Given the description of an element on the screen output the (x, y) to click on. 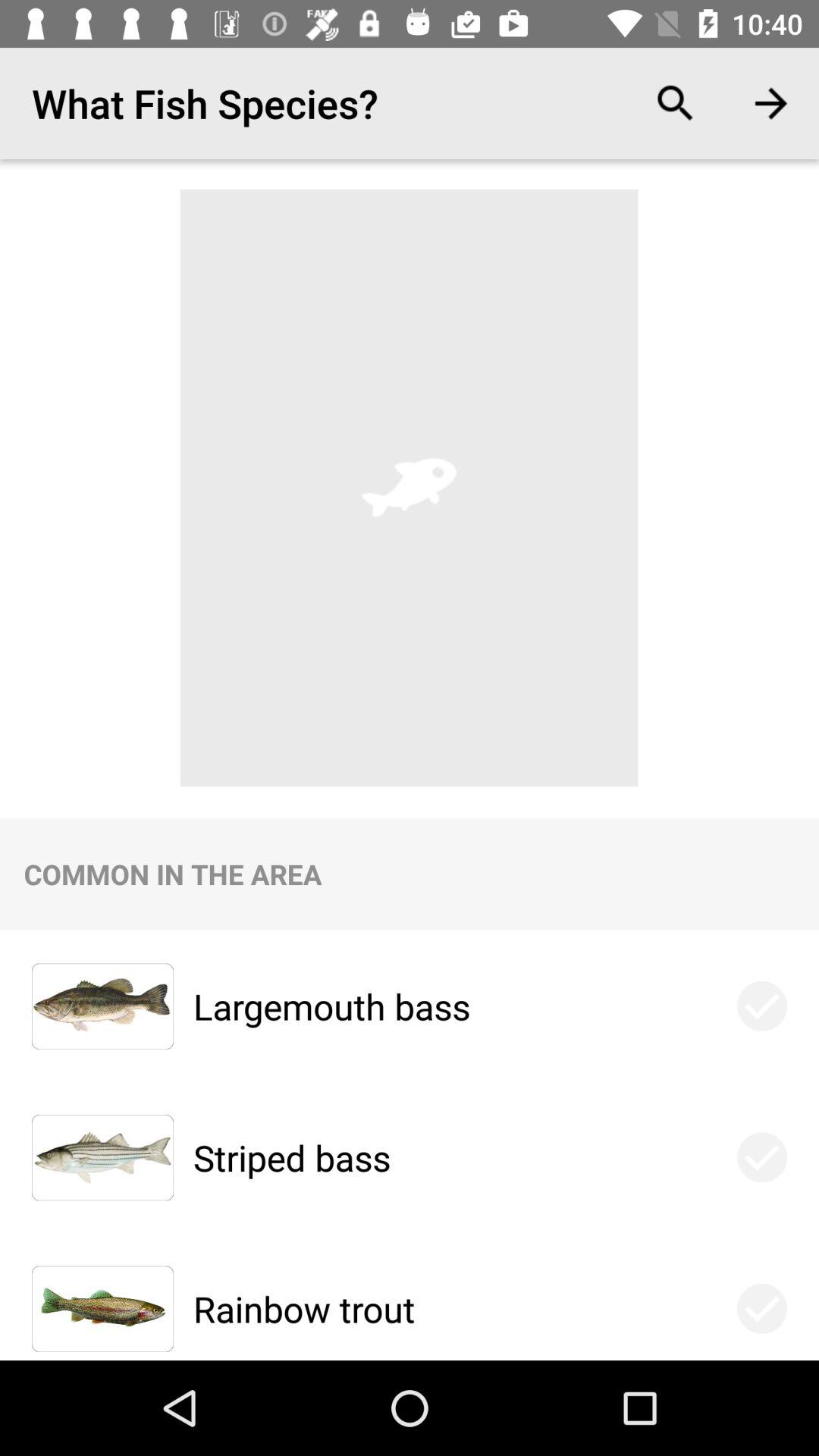
tap the item to the right of the what fish species? icon (675, 103)
